Given the description of an element on the screen output the (x, y) to click on. 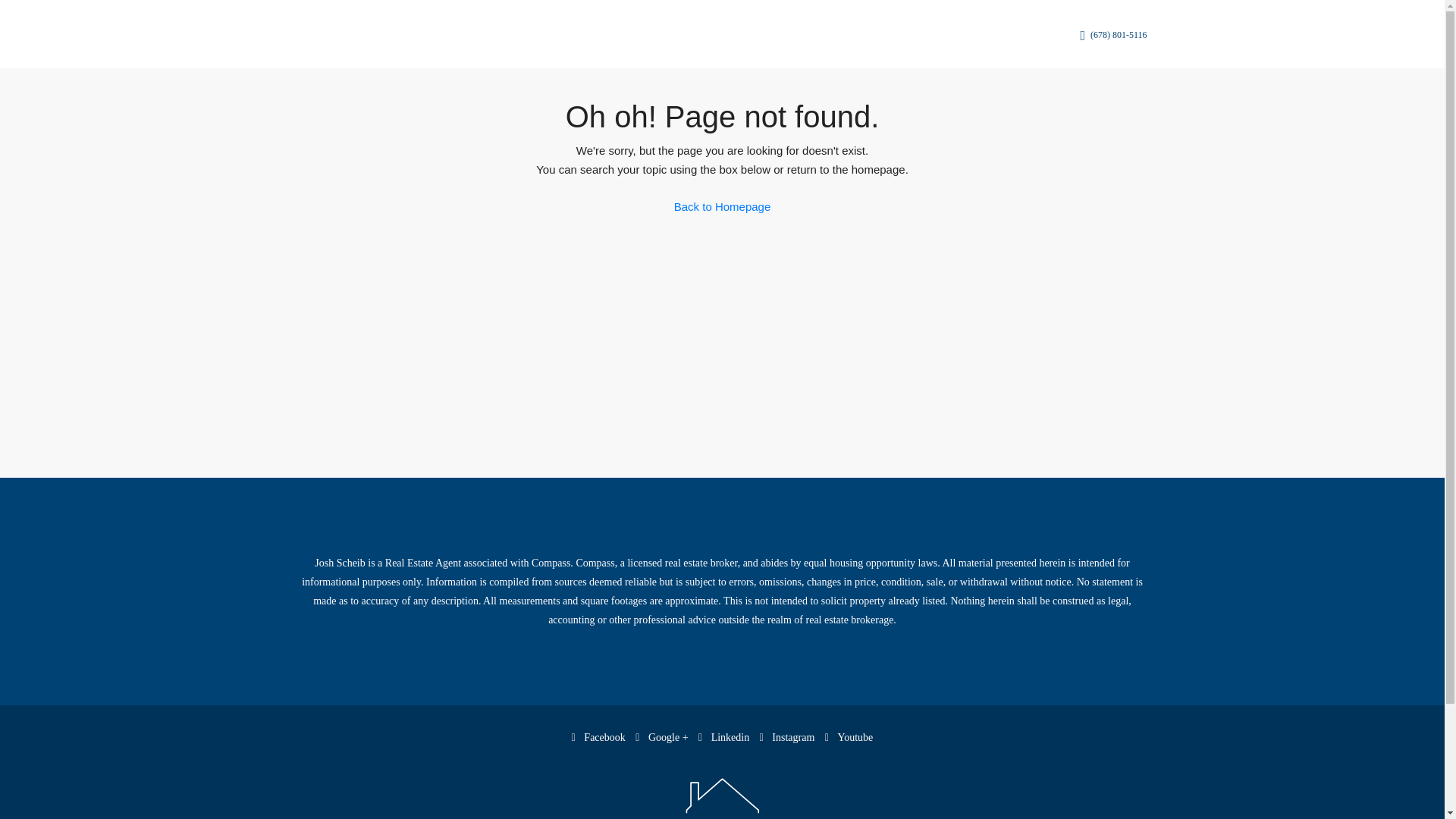
Communities (675, 34)
